Given the description of an element on the screen output the (x, y) to click on. 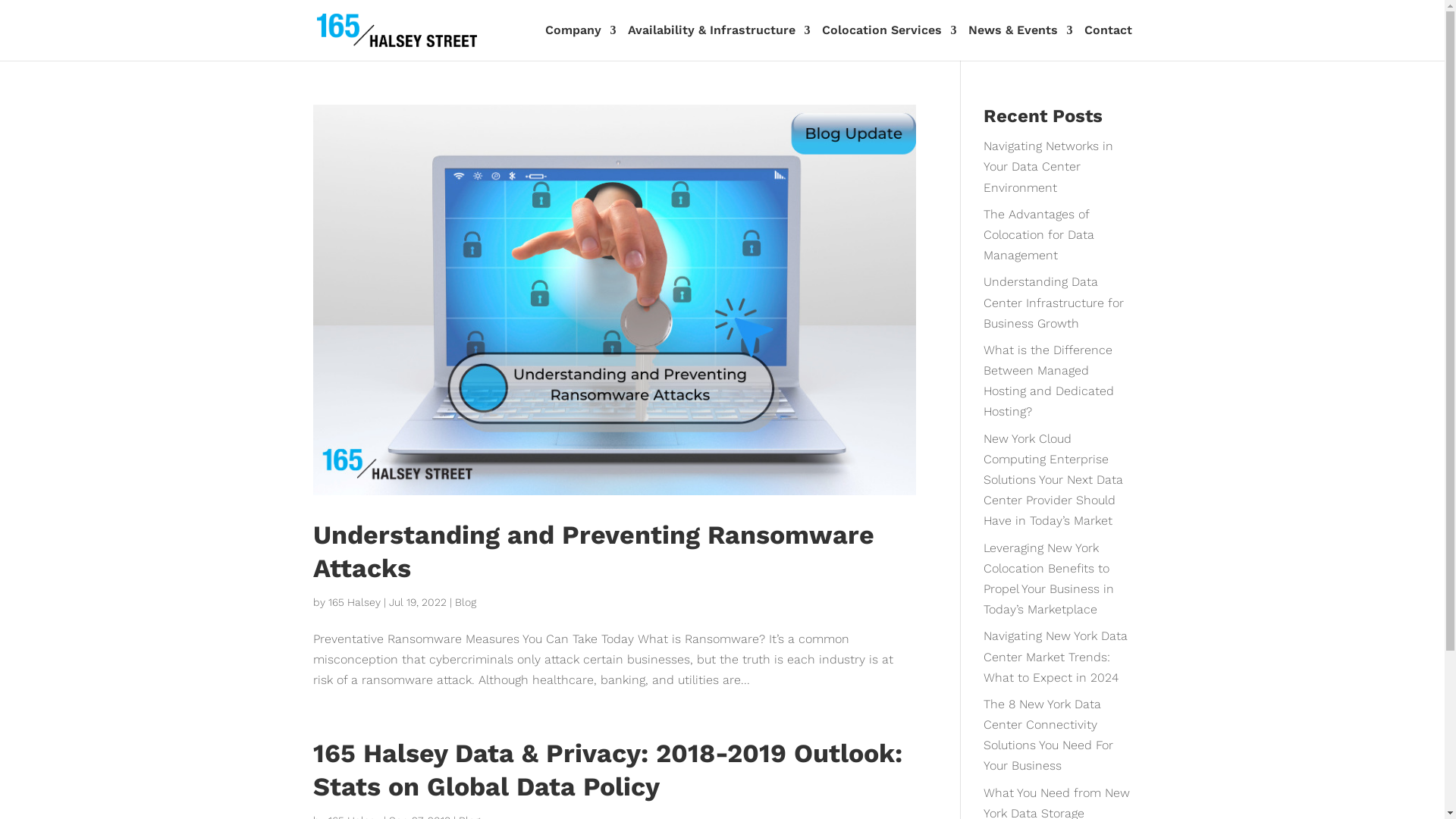
Colocation Services Element type: text (889, 42)
Navigating Networks in Your Data Center Environment Element type: text (1048, 166)
The Advantages of Colocation for Data Management Element type: text (1038, 234)
Company Element type: text (579, 42)
News & Events Element type: text (1019, 42)
Availability & Infrastructure Element type: text (718, 42)
Contact Element type: text (1108, 42)
Understanding Data Center Infrastructure for Business Growth Element type: text (1053, 301)
Understanding and Preventing Ransomware Attacks Element type: text (592, 550)
Blog Element type: text (465, 602)
165 Halsey Element type: text (353, 602)
